Given the description of an element on the screen output the (x, y) to click on. 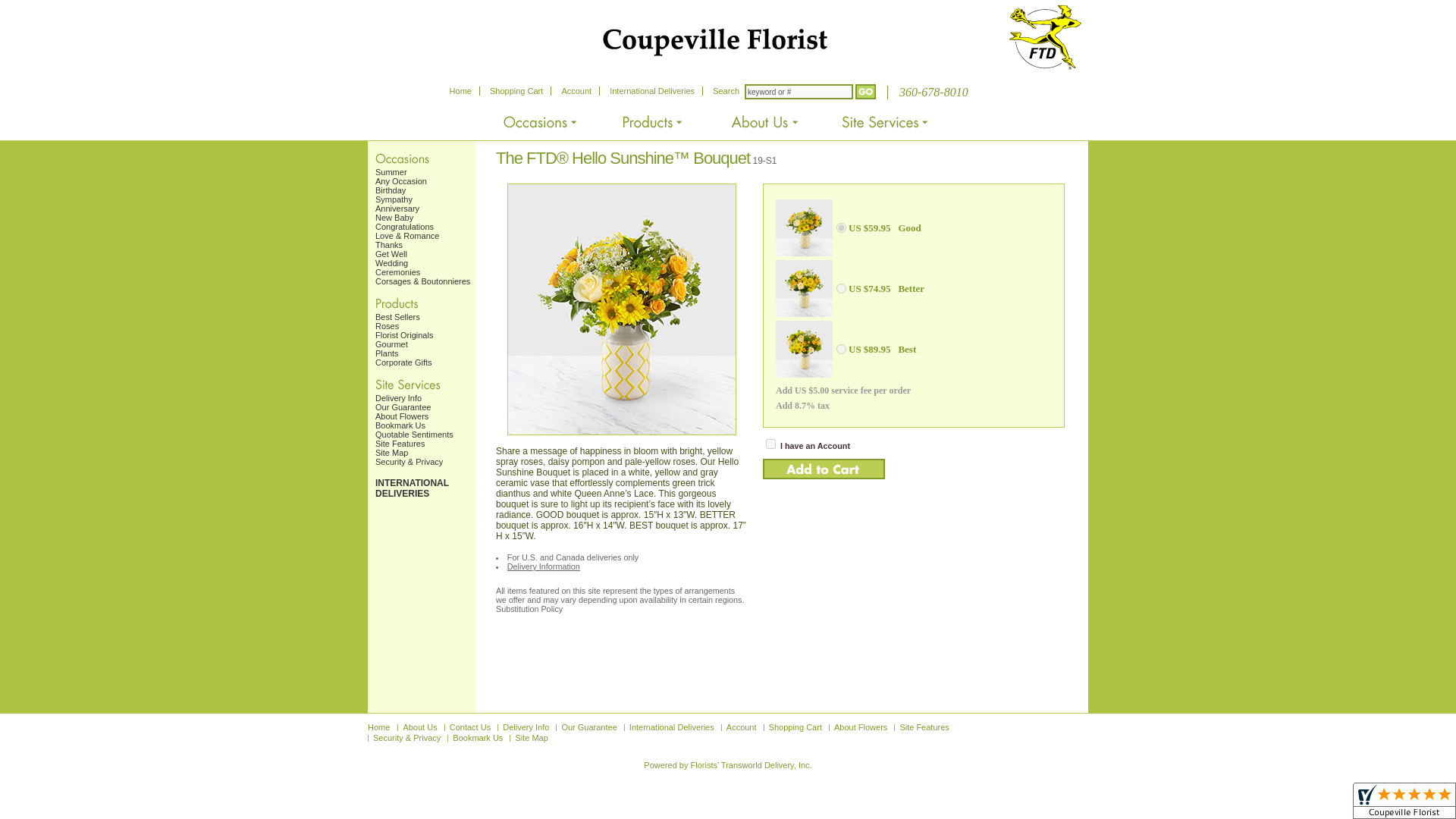
International Deliveries (652, 90)
Yes (770, 443)
Home (461, 90)
Shopping Cart (516, 90)
Account (576, 90)
